Given the description of an element on the screen output the (x, y) to click on. 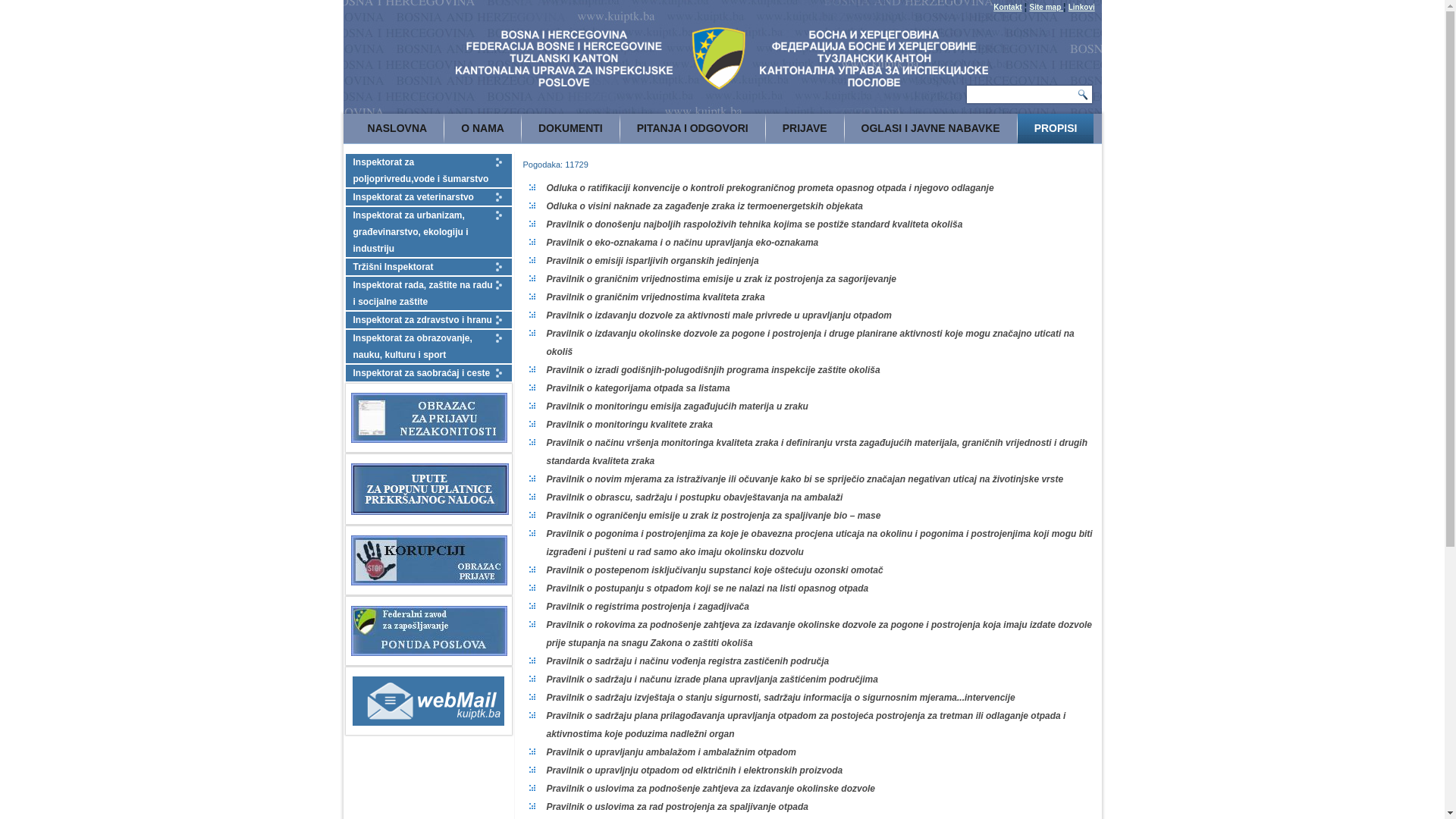
Kontakt Element type: text (1007, 7)
PROPISI Element type: text (1055, 128)
Pravilnik o emisiji isparljivih organskih jedinjenja Element type: text (652, 260)
Linkovi Element type: text (1081, 7)
PRIJAVE Element type: text (804, 128)
Inspektorat za zdravstvo i hranu Element type: text (428, 319)
NASLOVNA Element type: text (397, 128)
DOKUMENTI Element type: text (570, 128)
OGLASI I JAVNE NABAVKE Element type: text (930, 128)
Inspektorat za obrazovanje, nauku, kulturu i sport Element type: text (428, 346)
O NAMA Element type: text (482, 128)
Site map Element type: text (1046, 7)
PITANJA I ODGOVORI Element type: text (692, 128)
Pravilnik o kategorijama otpada sa listama Element type: text (637, 387)
Inspektorat za veterinarstvo Element type: text (428, 196)
Pravilnik o monitoringu kvalitete zraka Element type: text (629, 424)
